Given the description of an element on the screen output the (x, y) to click on. 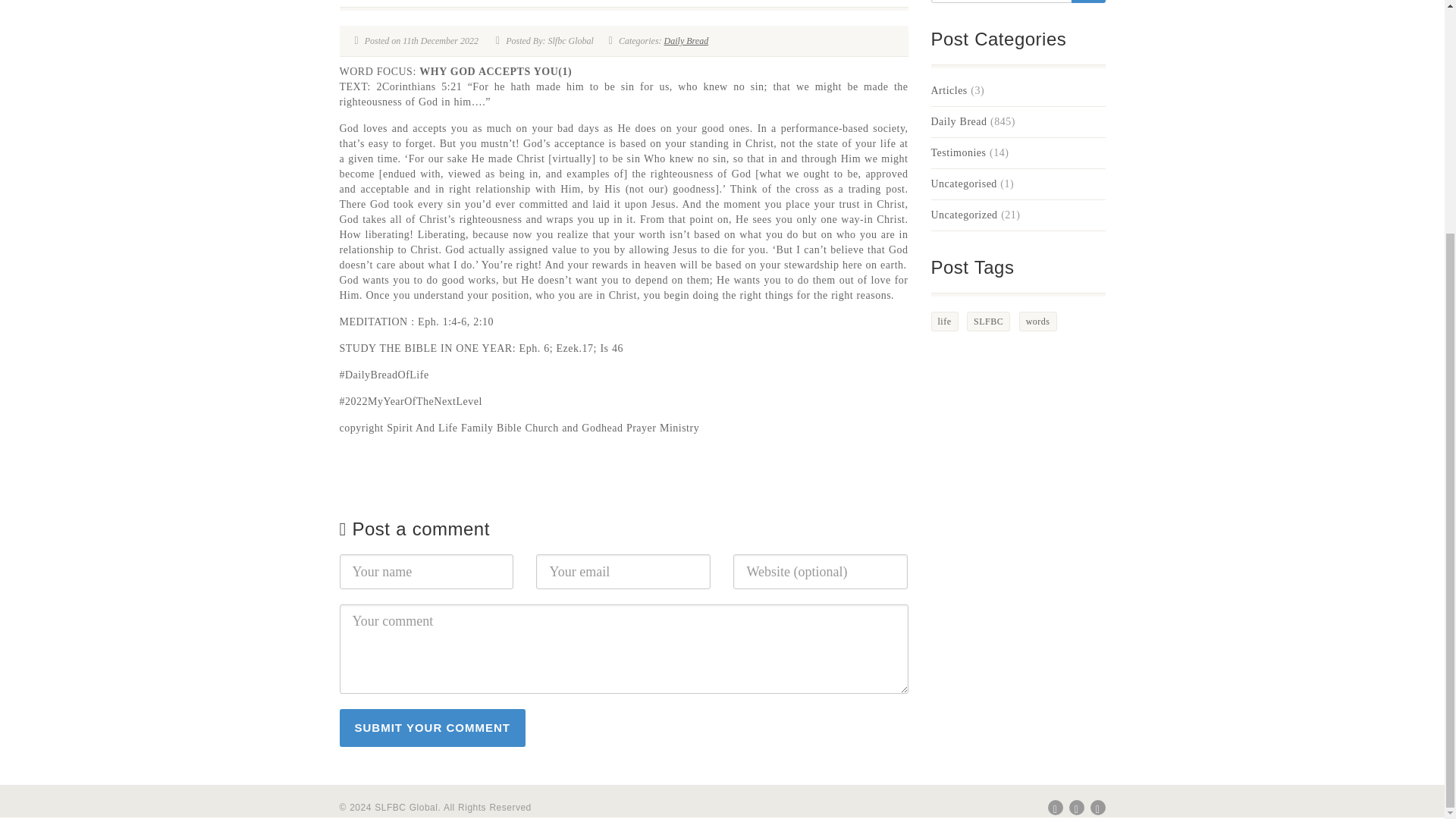
Articles (949, 90)
Daily Bread (959, 121)
Submit your comment (432, 727)
Daily Bread (686, 40)
Submit your comment (432, 727)
